Given the description of an element on the screen output the (x, y) to click on. 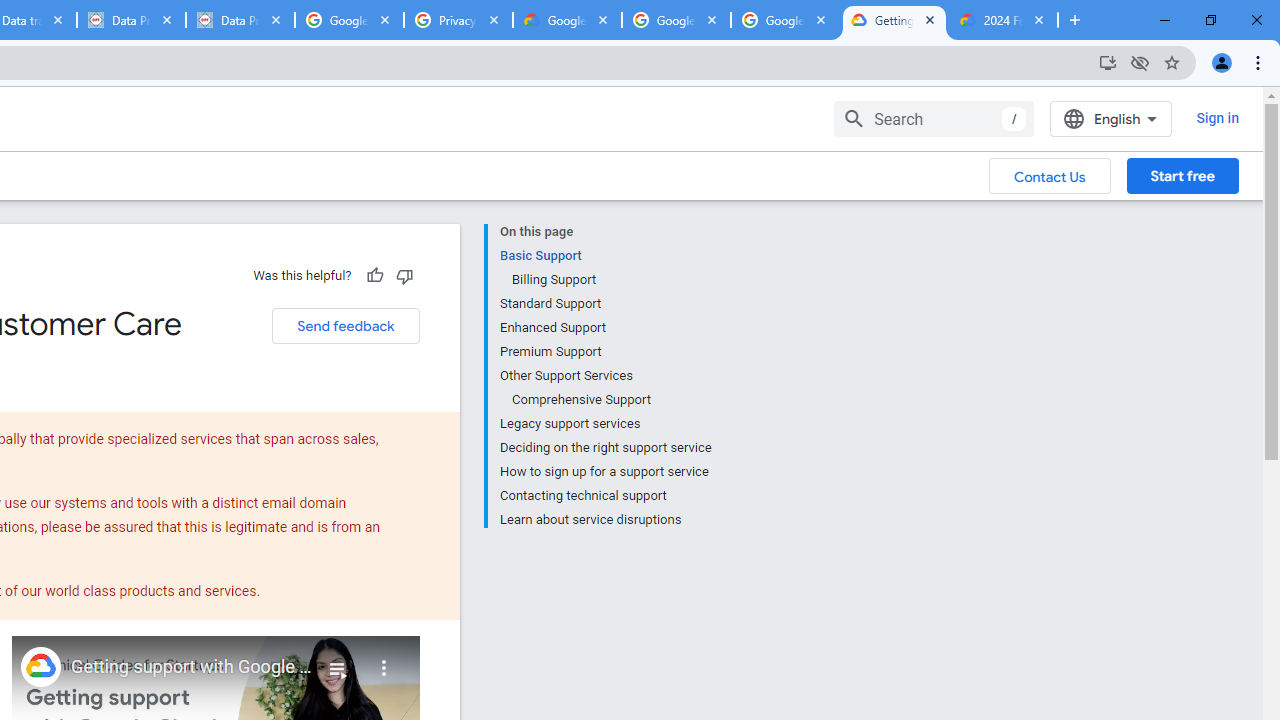
Legacy support services (605, 423)
Enhanced Support (605, 327)
Comprehensive Support (610, 399)
Data Privacy Framework (130, 20)
Data Privacy Framework (240, 20)
Premium Support (605, 351)
Billing Support (610, 279)
Deciding on the right support service (605, 448)
Getting support with Google Cloud Customer Care (191, 667)
Google Workspace - Specific Terms (676, 20)
More (384, 660)
